Given the description of an element on the screen output the (x, y) to click on. 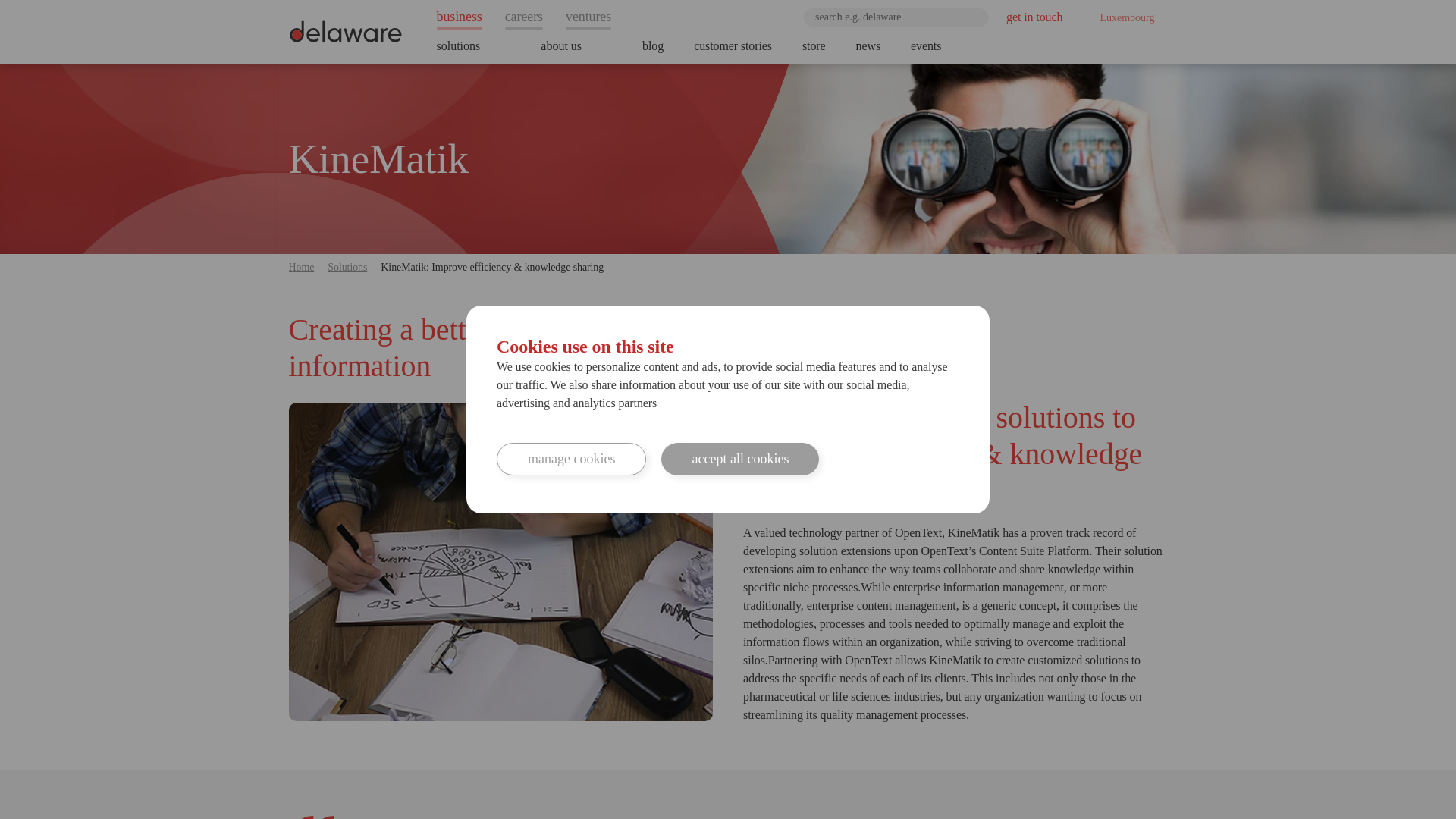
Luxembourg (1122, 17)
get in touch (1034, 16)
